Given the description of an element on the screen output the (x, y) to click on. 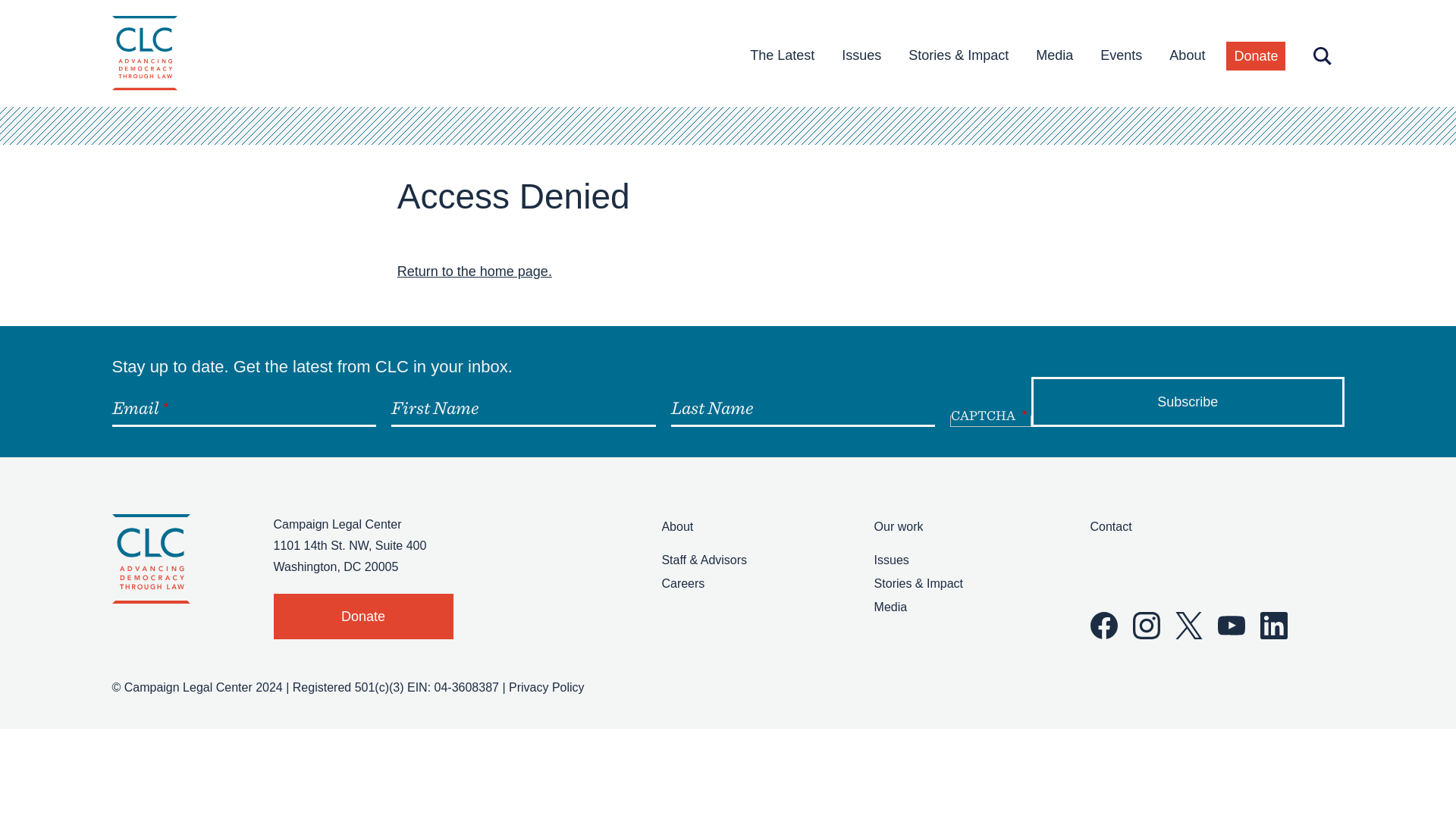
Careers (682, 583)
Media Center (1053, 55)
Donate (1255, 55)
Careers (682, 583)
Linkedin (1273, 625)
About (1187, 55)
Media (1053, 55)
About (1187, 55)
Issues (891, 559)
